Given the description of an element on the screen output the (x, y) to click on. 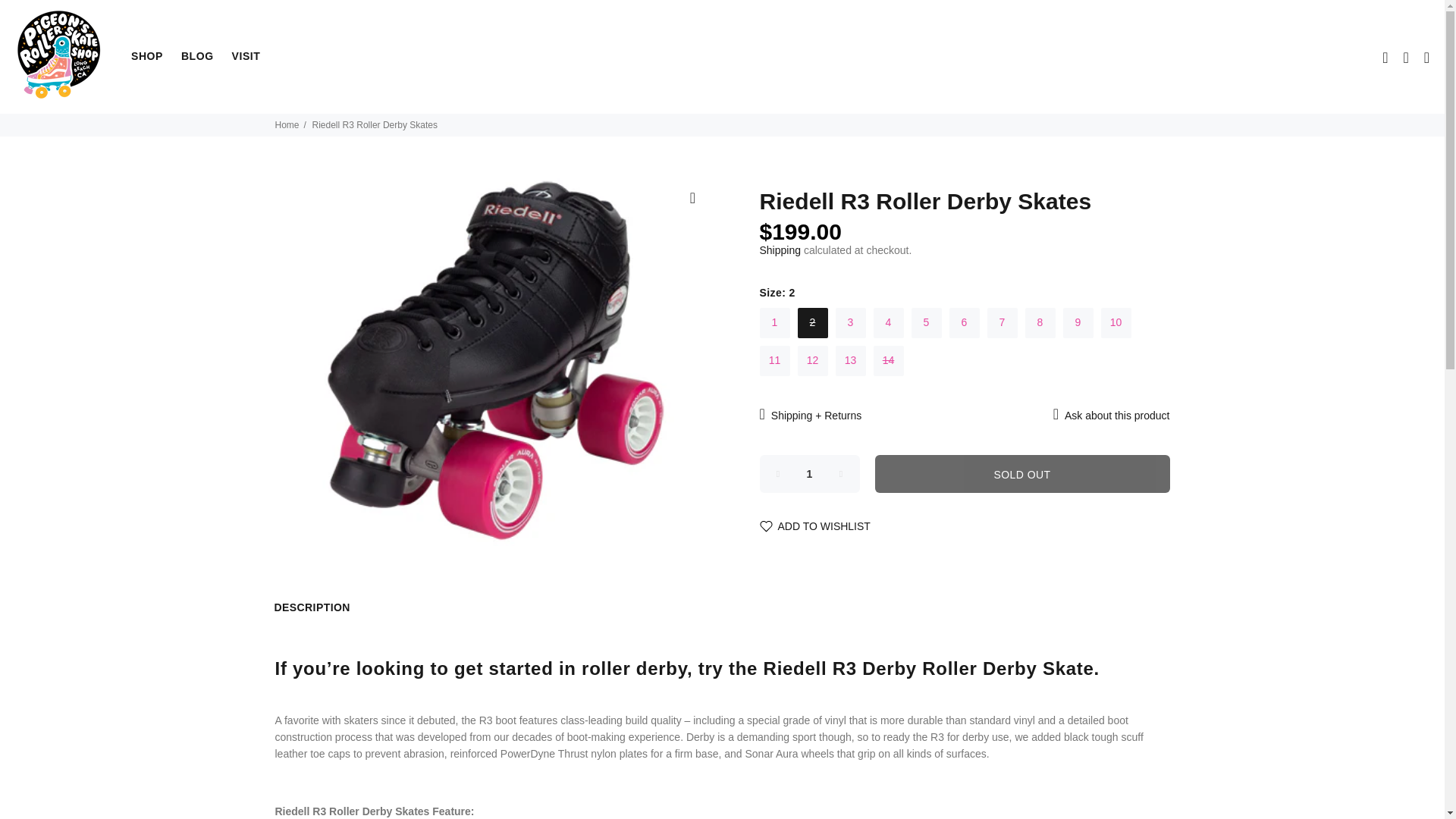
1 (810, 474)
